Given the description of an element on the screen output the (x, y) to click on. 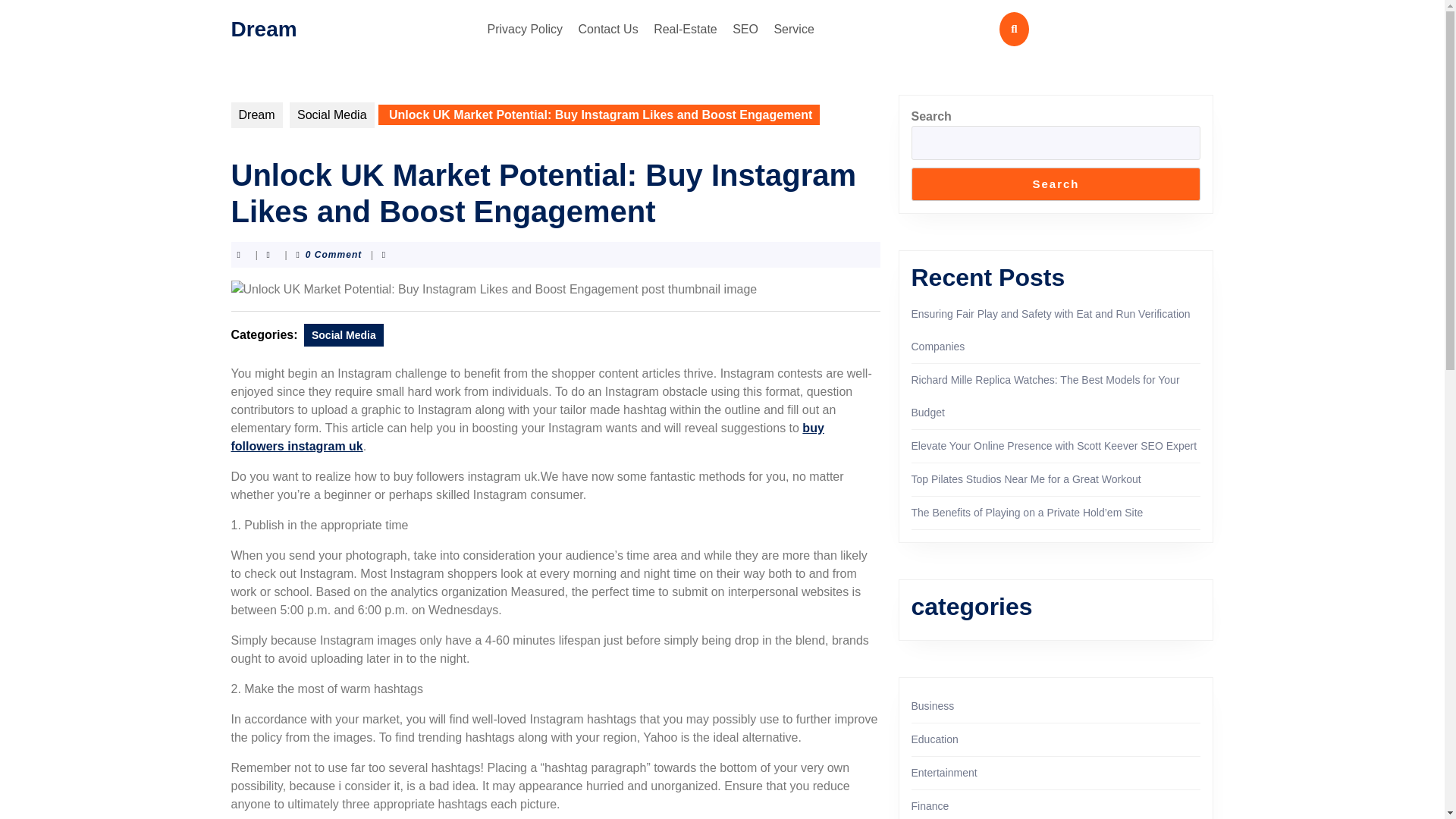
Privacy Policy (524, 28)
Dream (263, 28)
buy followers instagram uk (527, 436)
Top Pilates Studios Near Me for a Great Workout (1026, 479)
Social Media (344, 334)
SEO (745, 28)
Elevate Your Online Presence with Scott Keever SEO Expert (1053, 445)
Search (1056, 183)
Real-Estate (685, 28)
